Given the description of an element on the screen output the (x, y) to click on. 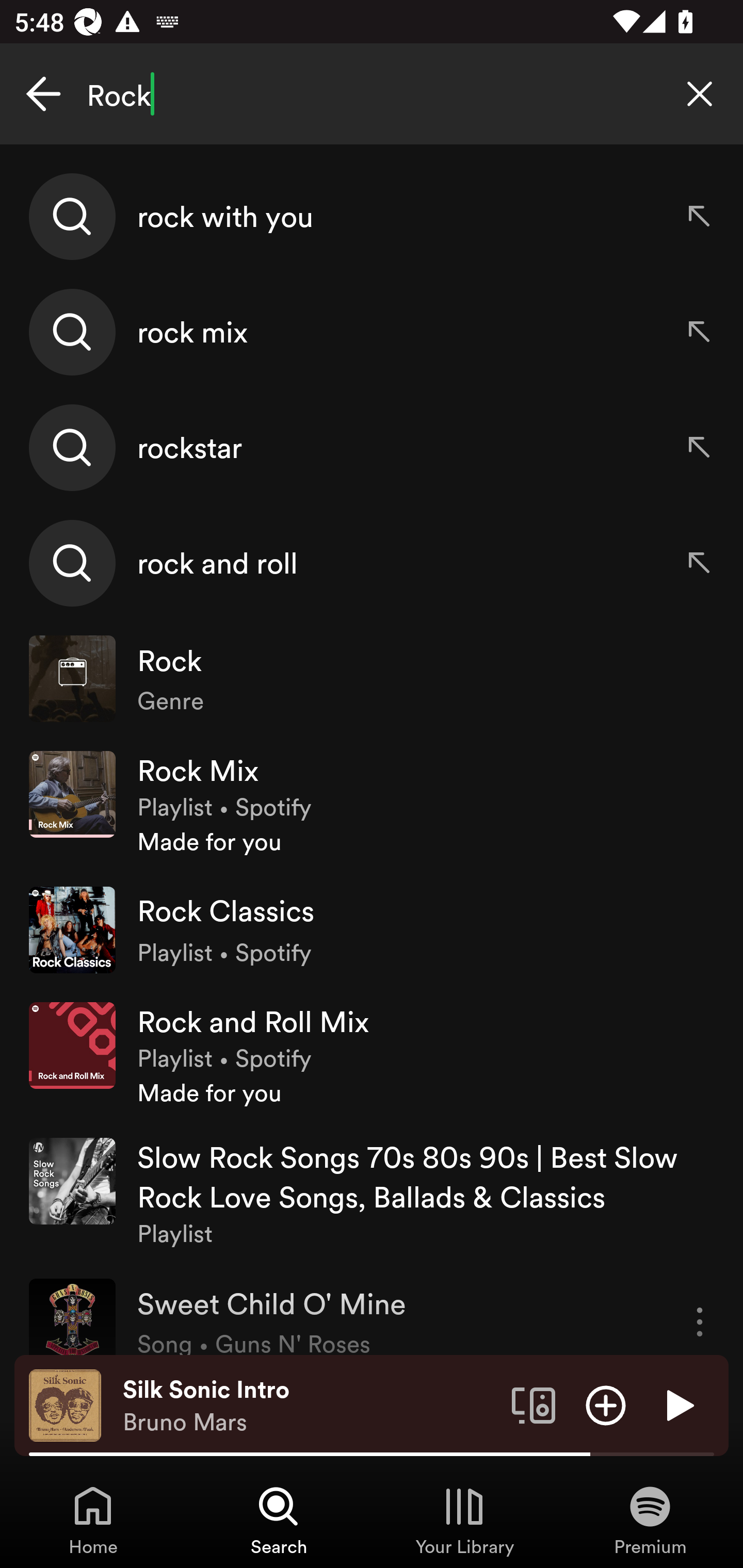
Rock (371, 93)
Cancel (43, 93)
Clear search query (699, 93)
rock with you (371, 216)
rock mix (371, 332)
rockstar (371, 447)
rock and roll (371, 562)
Rock Genre (371, 678)
Rock Mix Playlist • Spotify Made for you (371, 803)
Rock Classics Playlist • Spotify (371, 929)
Rock and Roll Mix Playlist • Spotify Made for you (371, 1054)
More options for song Sweet Child O' Mine (699, 1315)
Silk Sonic Intro Bruno Mars (309, 1405)
The cover art of the currently playing track (64, 1404)
Connect to a device. Opens the devices menu (533, 1404)
Add item (605, 1404)
Play (677, 1404)
Home, Tab 1 of 4 Home Home (92, 1519)
Search, Tab 2 of 4 Search Search (278, 1519)
Your Library, Tab 3 of 4 Your Library Your Library (464, 1519)
Premium, Tab 4 of 4 Premium Premium (650, 1519)
